Given the description of an element on the screen output the (x, y) to click on. 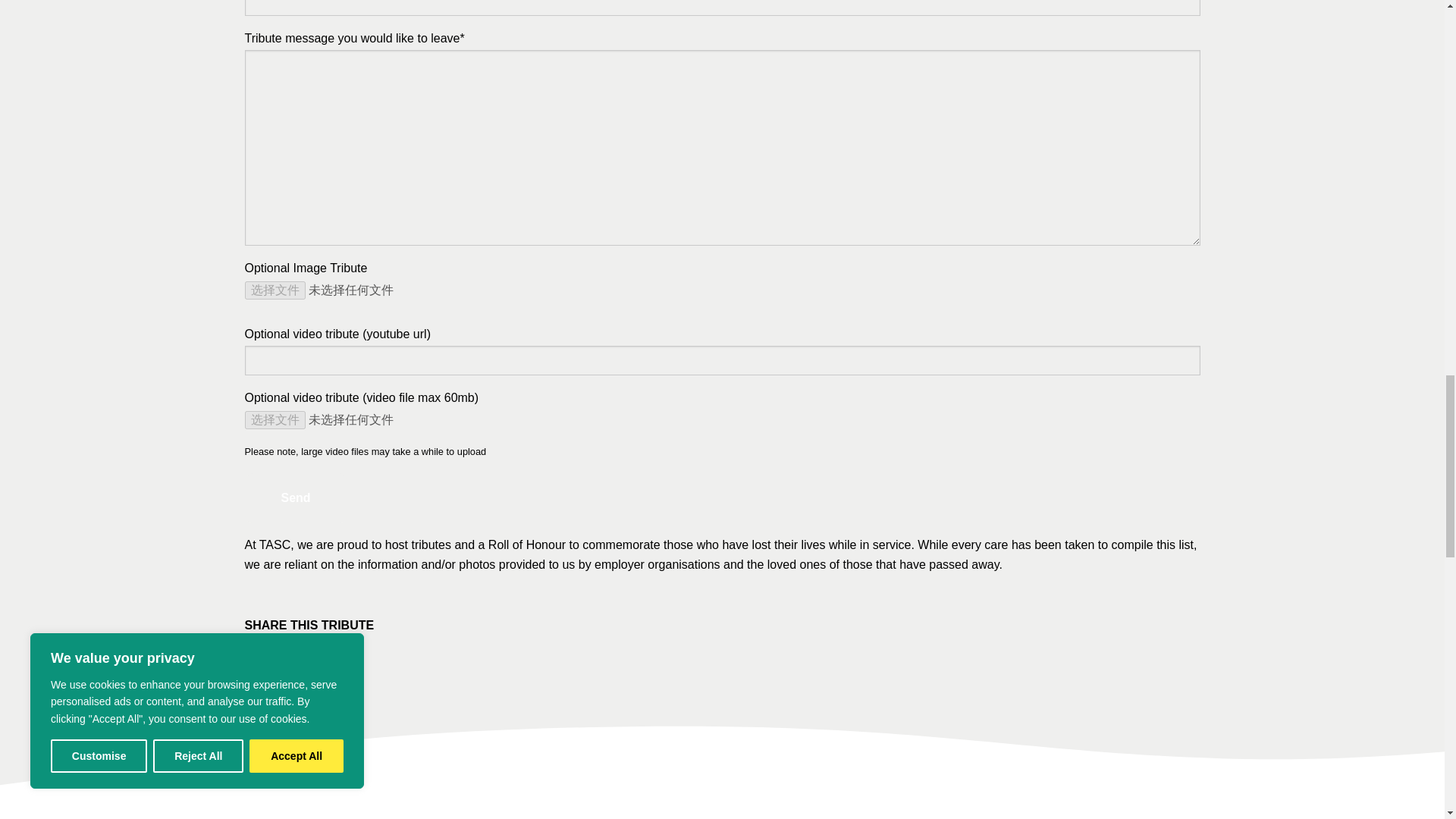
Twitter (289, 660)
Send (295, 498)
Facebook (259, 660)
LinkedIn (319, 660)
